Given the description of an element on the screen output the (x, y) to click on. 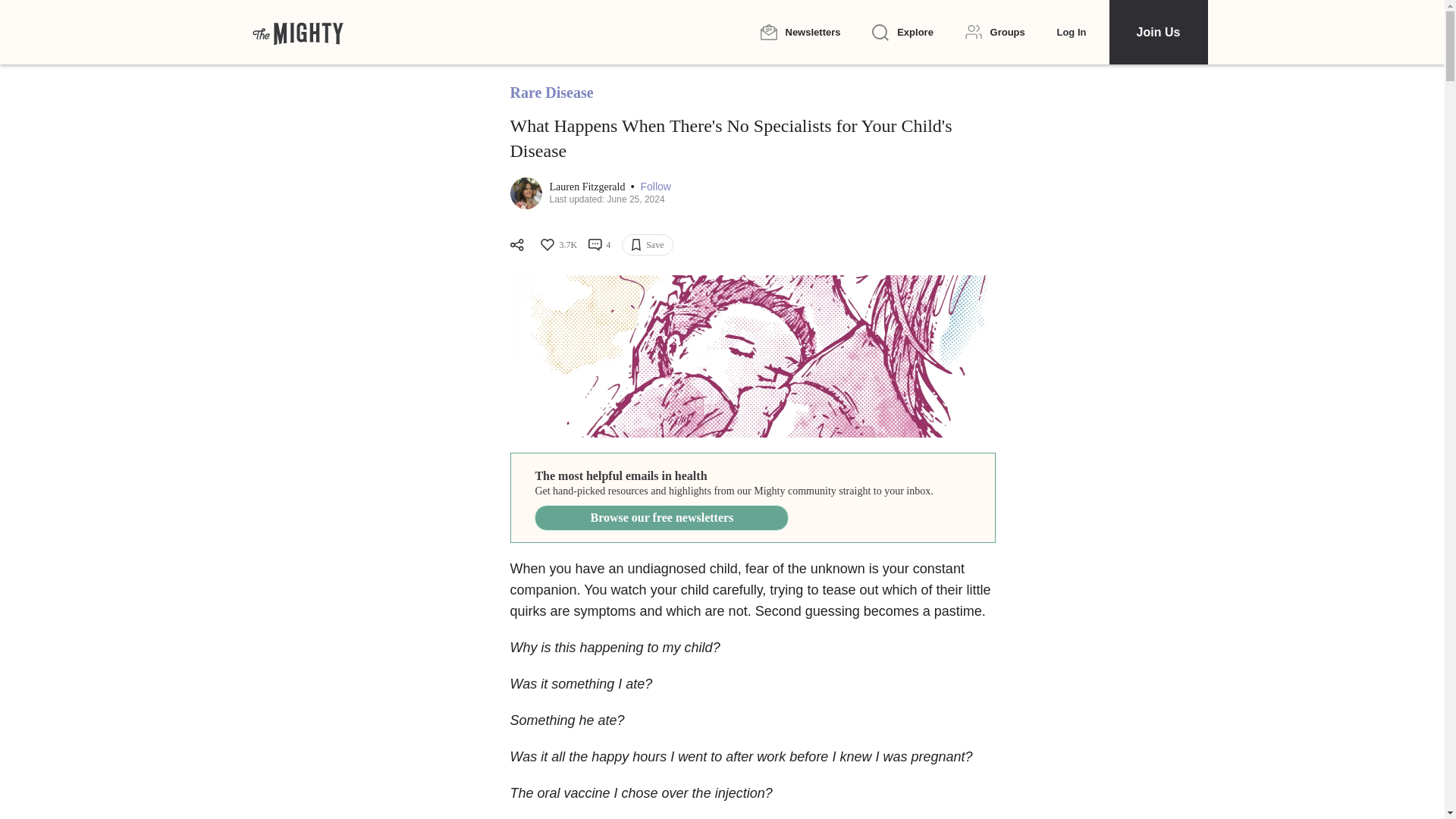
Follow (654, 186)
Groups (995, 32)
Explore (902, 32)
Save (646, 244)
The Mighty (296, 32)
Newsletters (800, 31)
Browse our free newsletters (661, 517)
Rare Disease (550, 92)
Lauren Fitzgerald (587, 186)
4 (599, 244)
